Given the description of an element on the screen output the (x, y) to click on. 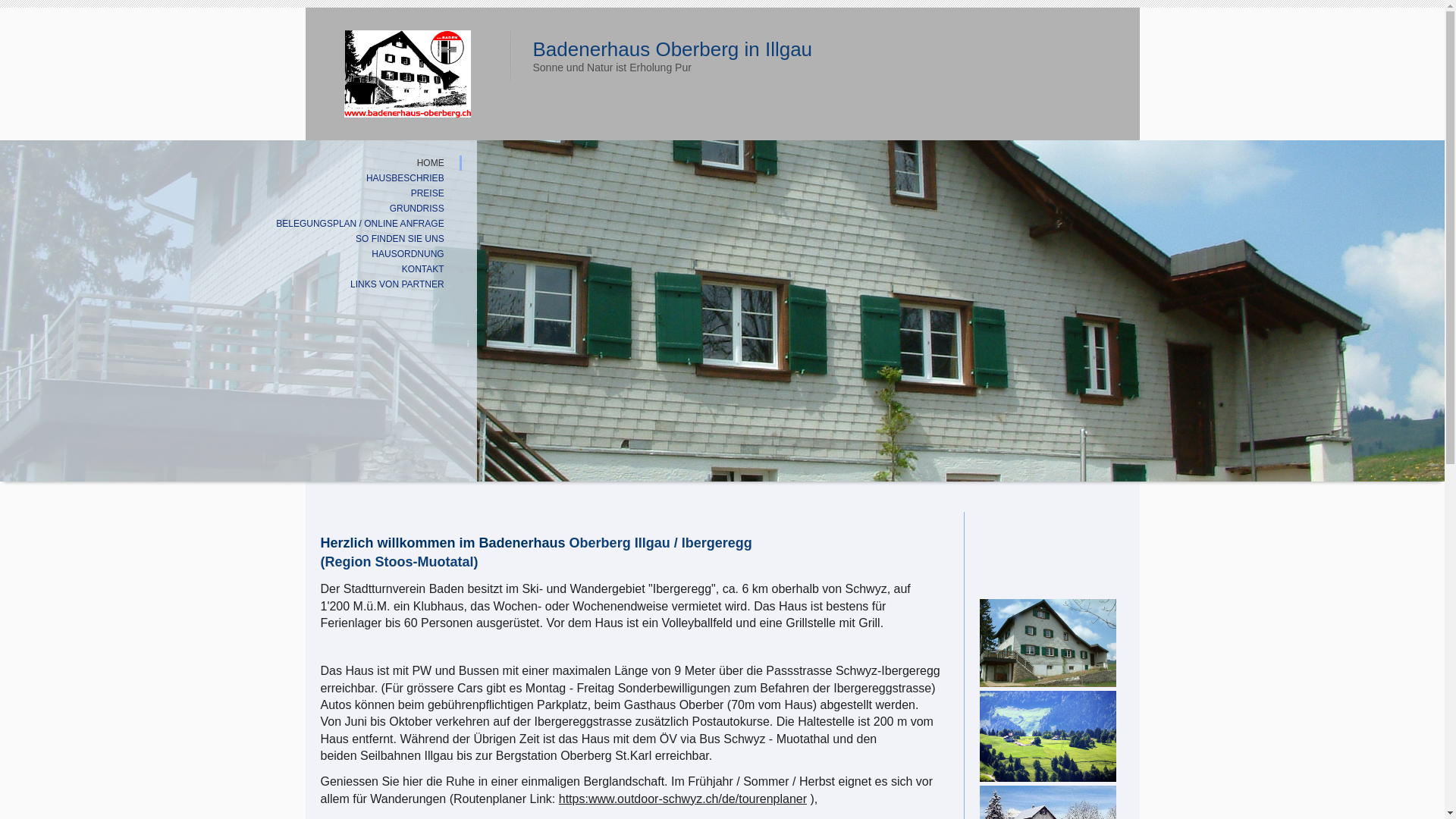
LINKS VON PARTNER Element type: text (230, 283)
PREISE Element type: text (230, 192)
KONTAKT Element type: text (230, 268)
BELEGUNGSPLAN / ONLINE ANFRAGE Element type: text (230, 223)
HAUSBESCHRIEB Element type: text (230, 177)
https:www.outdoor-schwyz.ch/de/tourenplaner Element type: text (682, 798)
HOME Element type: text (230, 162)
SO FINDEN SIE UNS Element type: text (230, 238)
GRUNDRISS Element type: text (230, 208)
HAUSORDNUNG Element type: text (230, 253)
